Given the description of an element on the screen output the (x, y) to click on. 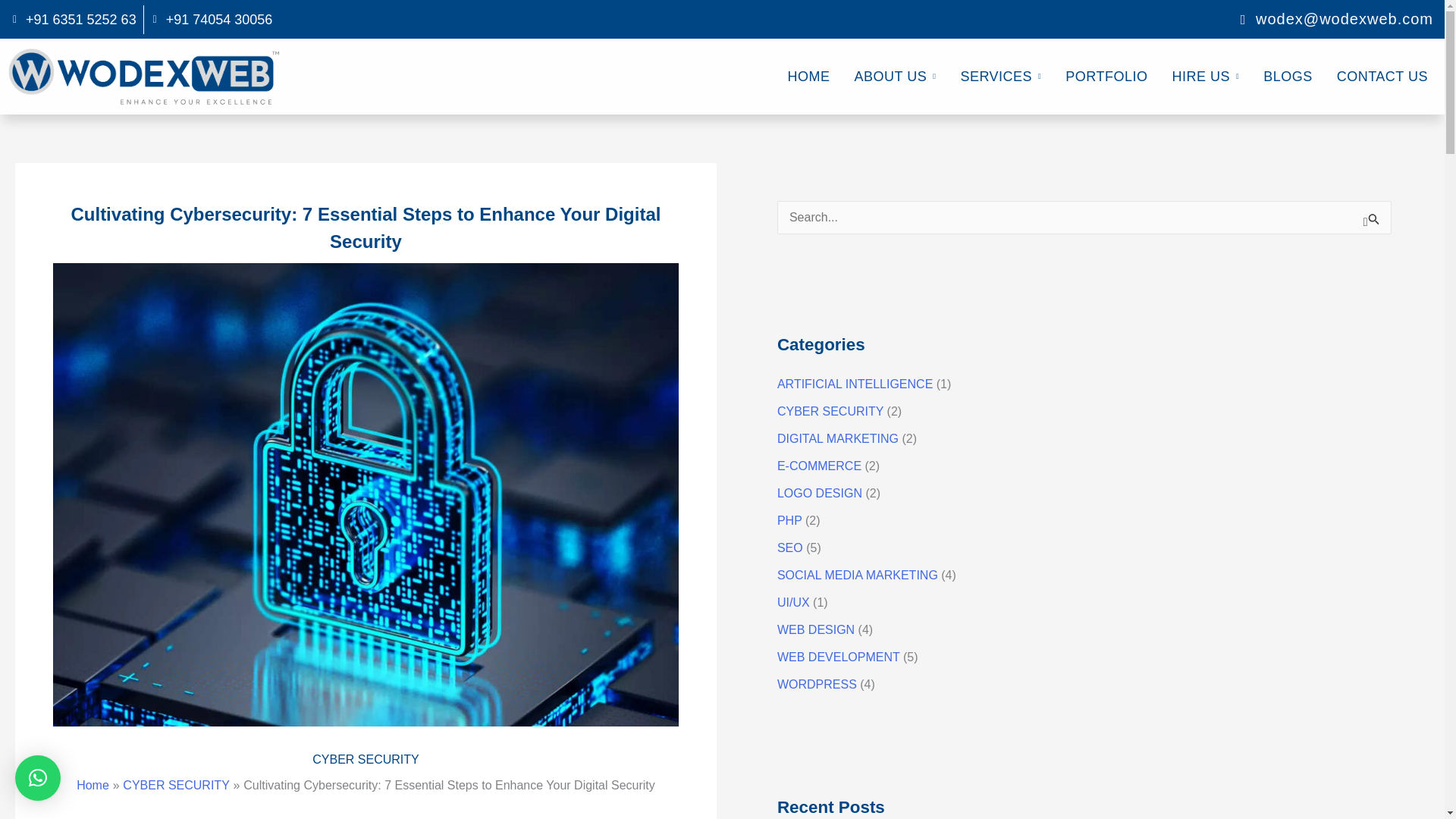
CONTACT US (1382, 76)
PORTFOLIO (1106, 76)
SERVICES (999, 76)
ABOUT US (894, 76)
HOME (809, 76)
HIRE US (1204, 76)
BLOGS (1287, 76)
